Given the description of an element on the screen output the (x, y) to click on. 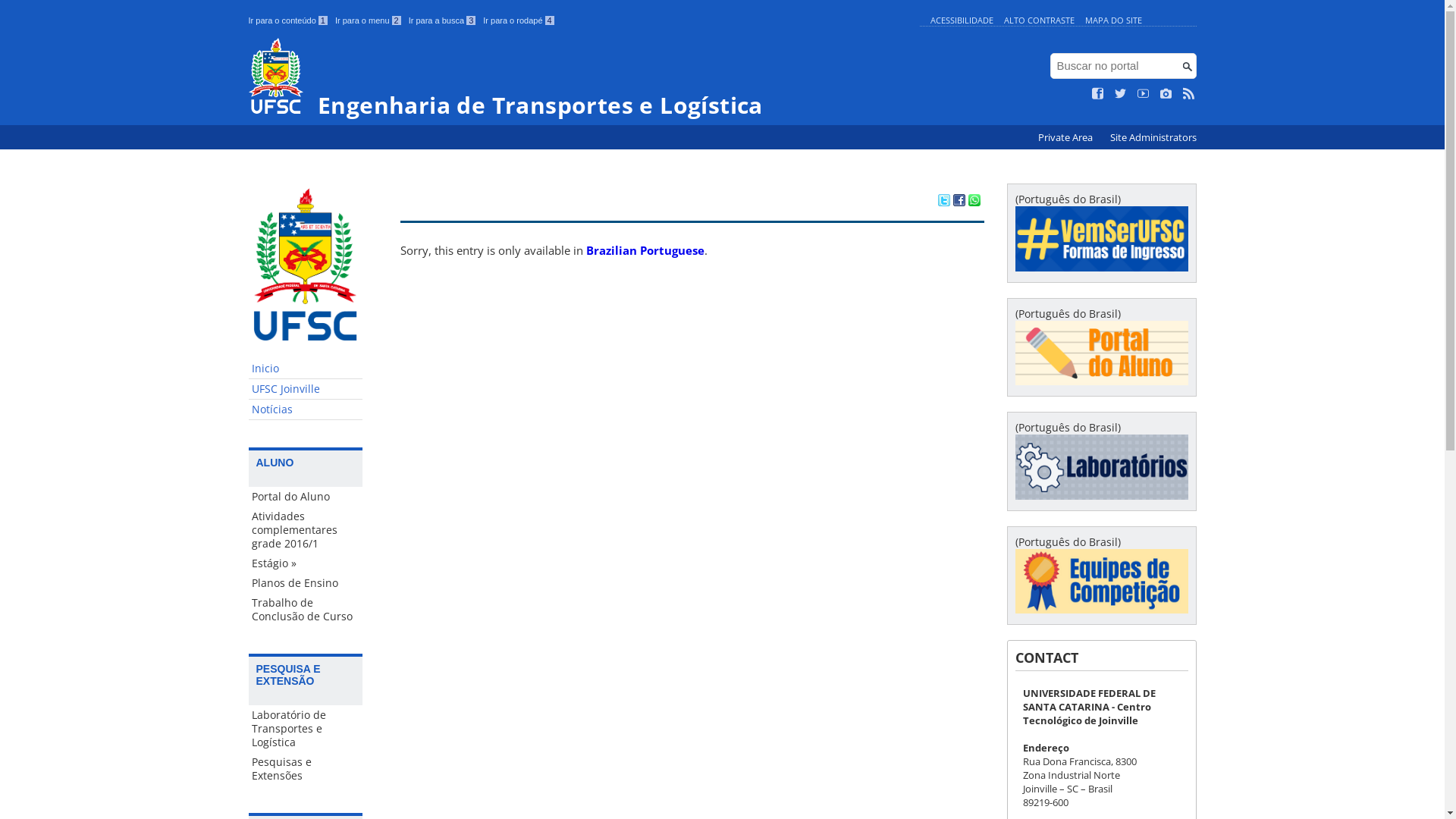
Compartilhar no WhatsApp Element type: hover (973, 201)
Compartilhar no Facebook Element type: hover (958, 201)
Atividades complementares grade 2016/1 Element type: text (305, 529)
Curta no Facebook Element type: hover (1098, 93)
Portal do Aluno Element type: text (305, 496)
Brazilian Portuguese Element type: text (644, 249)
Site Administrators Element type: text (1153, 137)
Compartilhar no Twitter Element type: hover (943, 201)
Ir para o menu 2 Element type: text (368, 20)
Planos de Ensino Element type: text (305, 583)
ALTO CONTRASTE Element type: text (1039, 19)
ACESSIBILIDADE Element type: text (960, 19)
Siga no Twitter Element type: hover (1120, 93)
UFSC Joinville Element type: text (305, 389)
Ir para a busca 3 Element type: text (442, 20)
Inicio Element type: text (305, 368)
MAPA DO SITE Element type: text (1112, 19)
Veja no Instagram Element type: hover (1166, 93)
Private Area Element type: text (1065, 137)
